Given the description of an element on the screen output the (x, y) to click on. 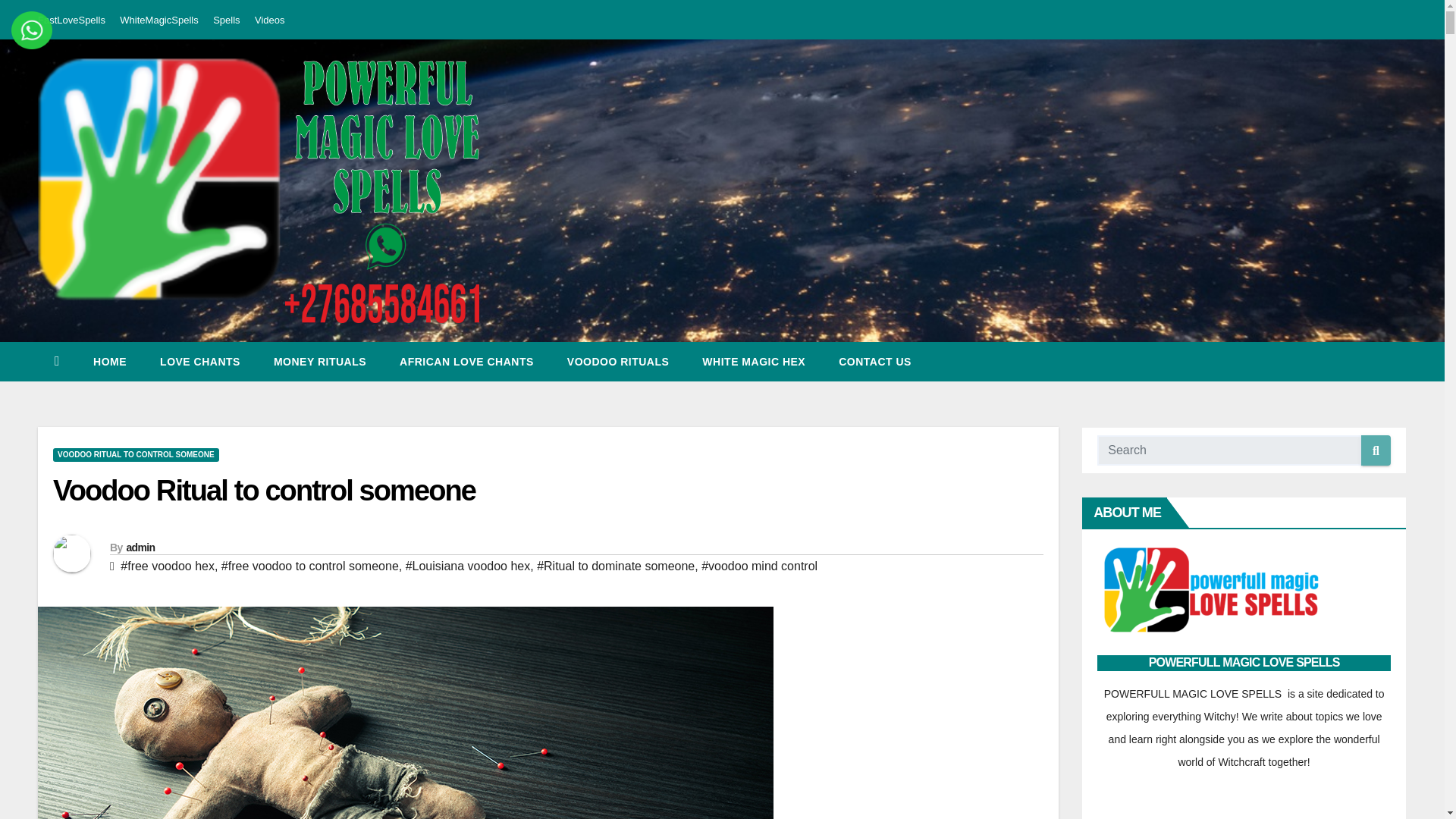
Voodoo Rituals (617, 361)
HOME (109, 361)
Home (109, 361)
CONTACT US (875, 361)
Voodoo Ritual to control someone (264, 490)
African love Chants (466, 361)
VOODOO RITUAL TO CONTROL SOMEONE (135, 454)
WHITE MAGIC HEX (753, 361)
Contact Us (875, 361)
Love Chants (199, 361)
VOODOO RITUALS (617, 361)
LOVE CHANTS (199, 361)
Money Rituals (319, 361)
WhiteMagicSpells (158, 19)
admin (139, 547)
